Given the description of an element on the screen output the (x, y) to click on. 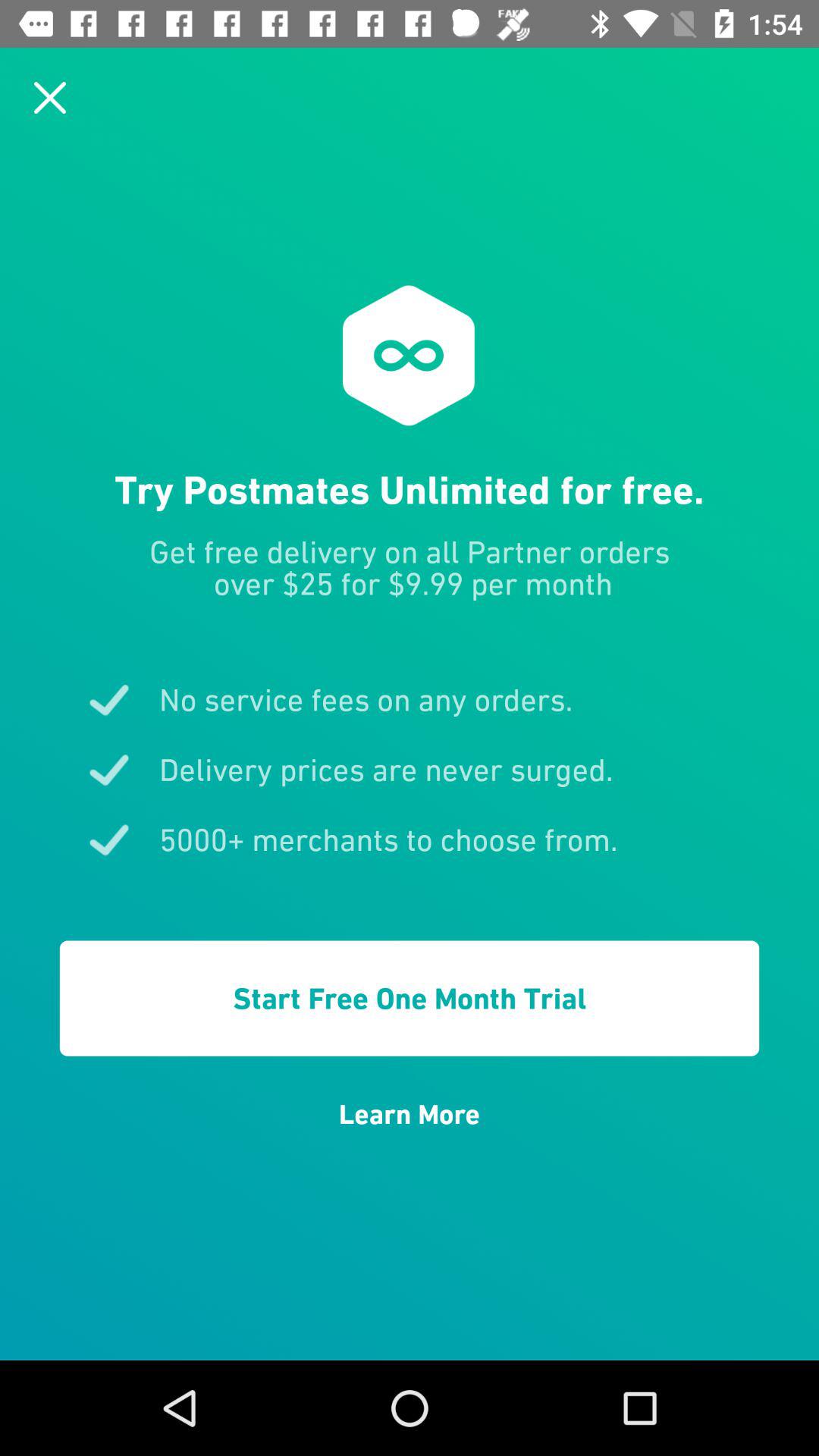
swipe until start free one icon (409, 998)
